Given the description of an element on the screen output the (x, y) to click on. 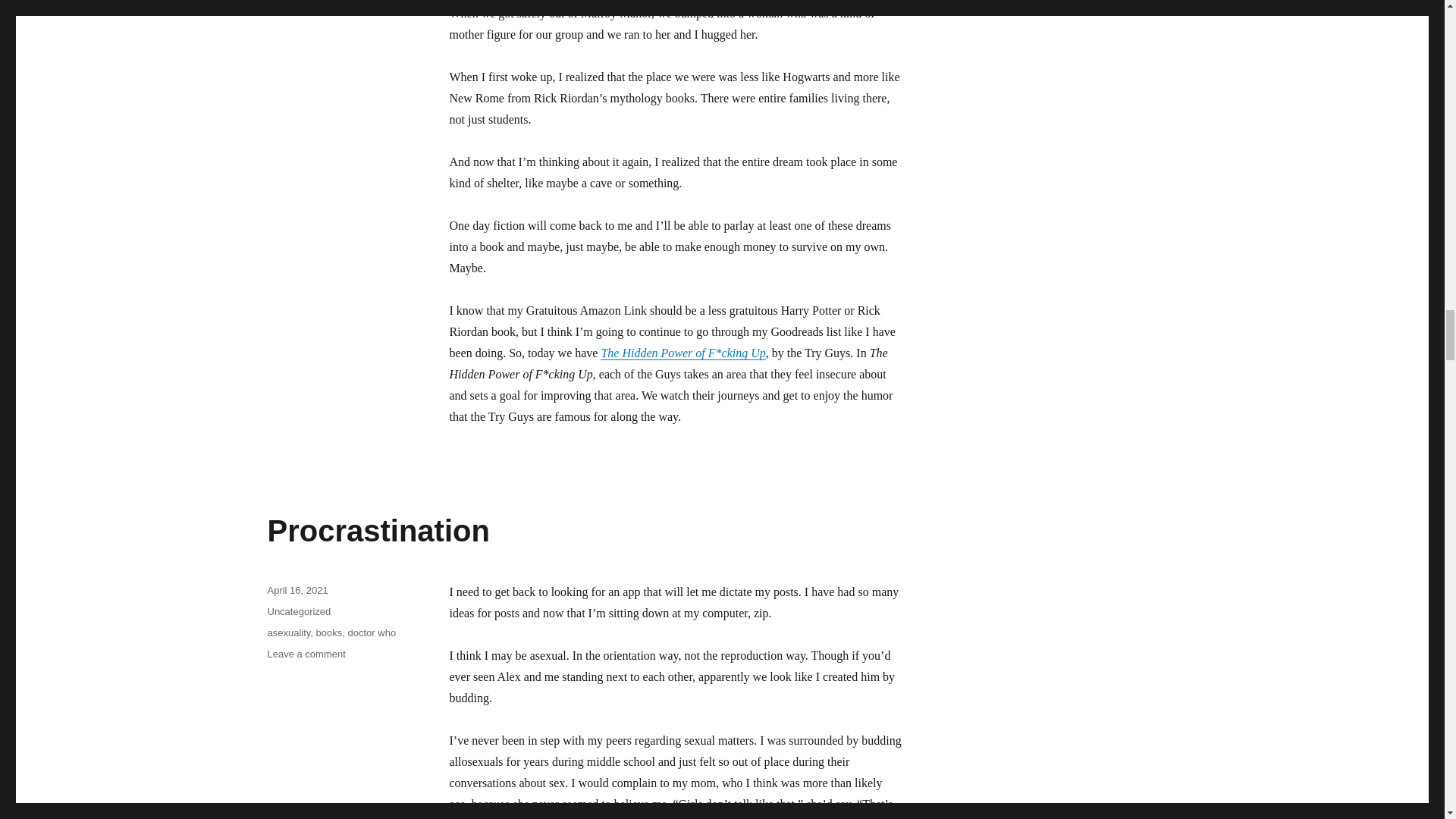
Procrastination (377, 530)
